Given the description of an element on the screen output the (x, y) to click on. 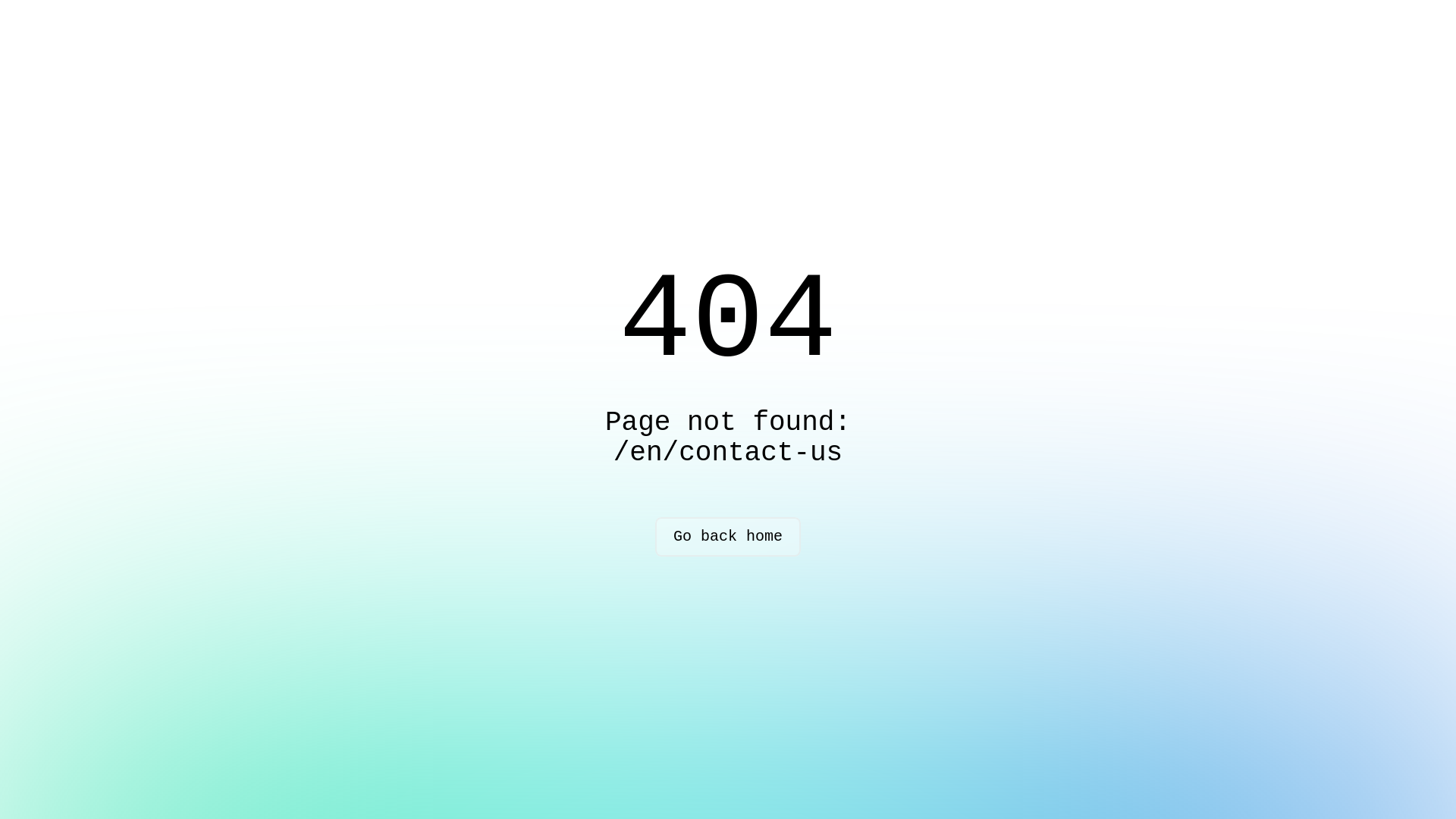
Go back home Element type: text (727, 536)
